Given the description of an element on the screen output the (x, y) to click on. 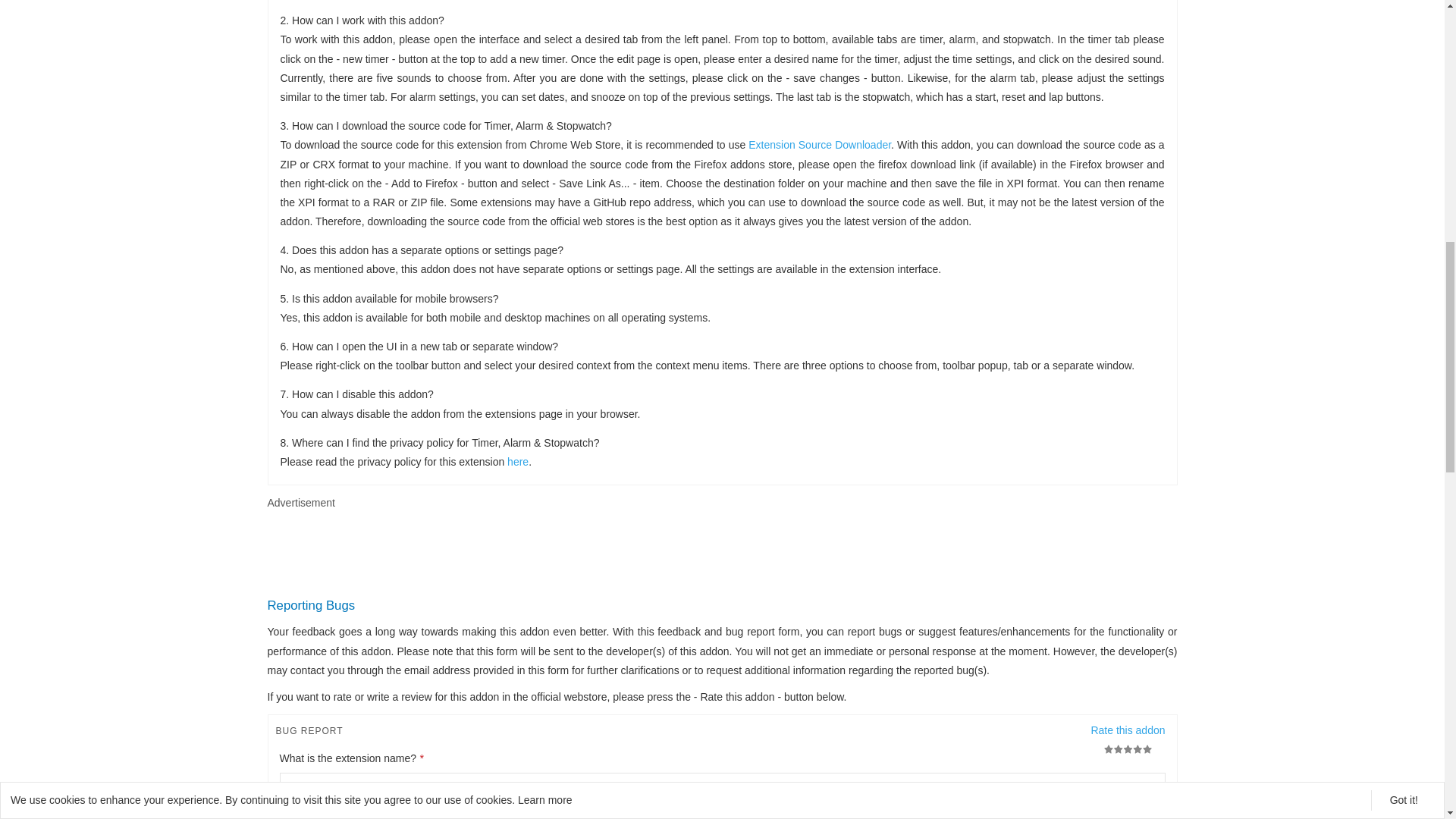
Rate this addon (1127, 738)
here (517, 461)
Extension Source Downloader (819, 144)
